Given the description of an element on the screen output the (x, y) to click on. 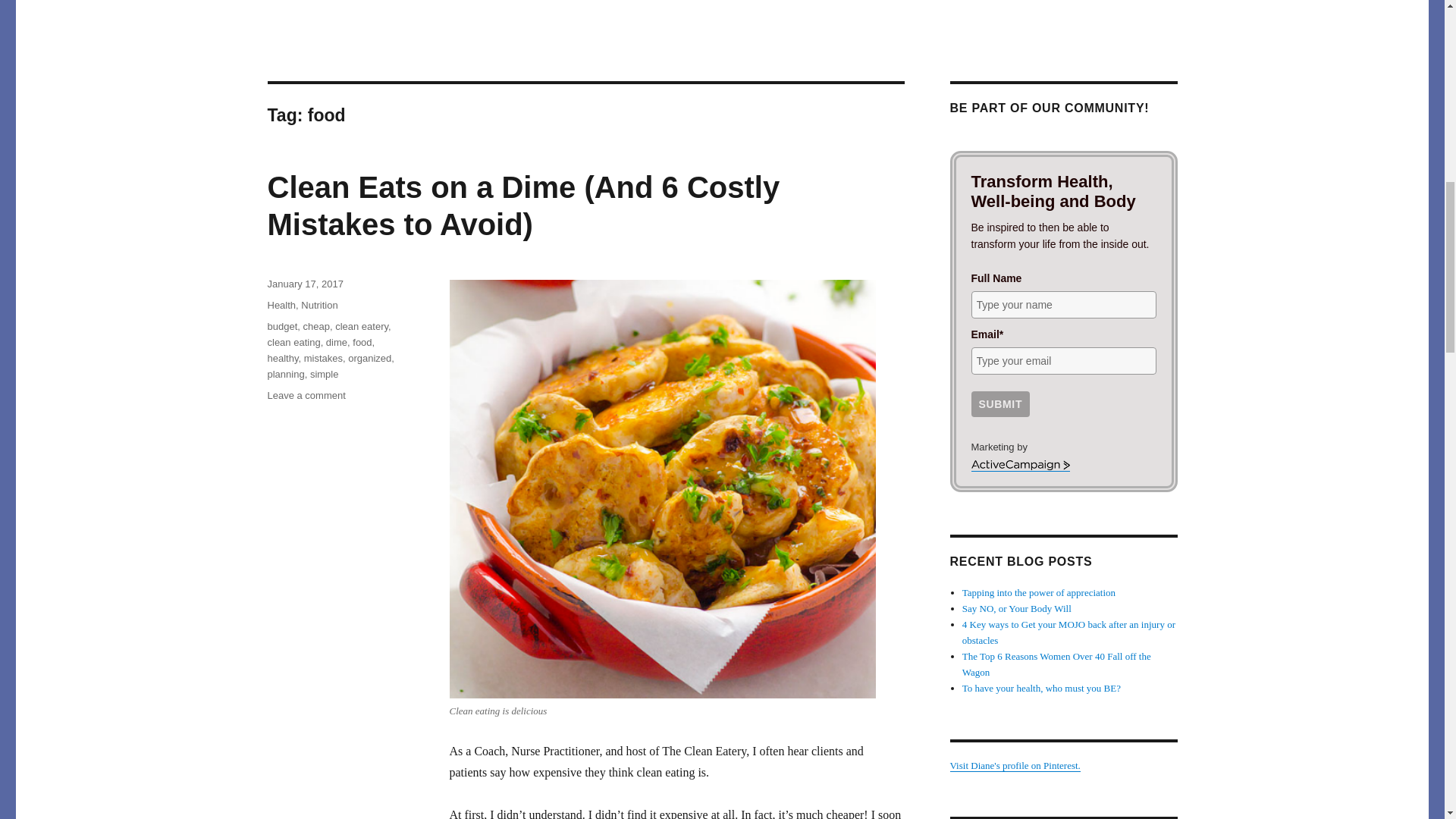
clean eating (293, 342)
SUBMIT (1000, 403)
mistakes (323, 357)
Tapping into the power of appreciation (1038, 592)
Nutrition (319, 305)
planning (285, 374)
budget (281, 326)
January 17, 2017 (304, 283)
ActiveCampaign (1019, 465)
simple (324, 374)
Health (280, 305)
dime (336, 342)
organized (369, 357)
cheap (316, 326)
